Given the description of an element on the screen output the (x, y) to click on. 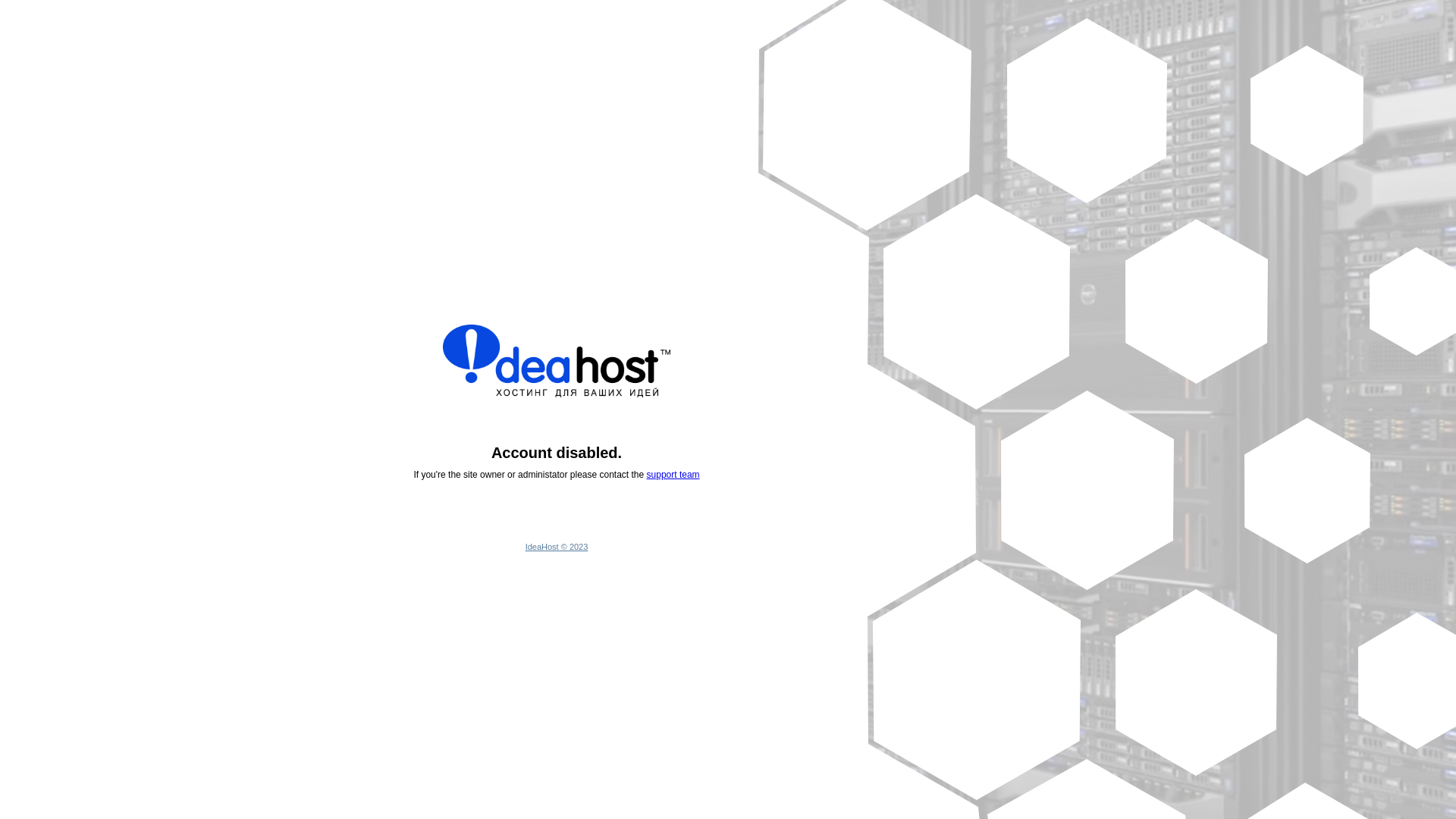
support team Element type: text (672, 474)
